Given the description of an element on the screen output the (x, y) to click on. 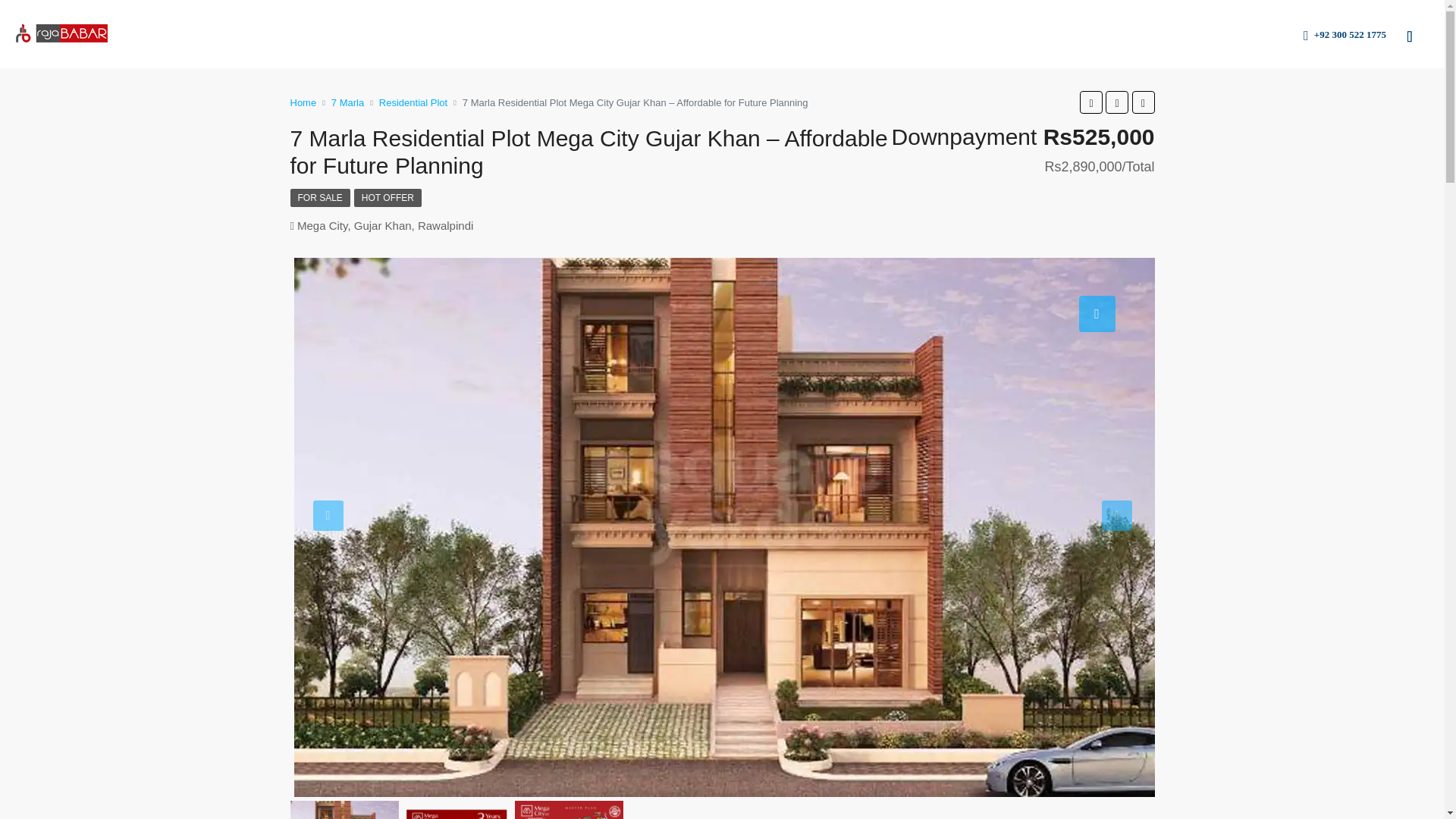
Residential Plot (412, 101)
7 Marla (347, 101)
Tycoon Square (1066, 33)
FOR SALE (319, 198)
CK Arcade (866, 33)
Mega City (1150, 33)
Homepage (685, 33)
Home (302, 101)
Pages (1260, 34)
